Given the description of an element on the screen output the (x, y) to click on. 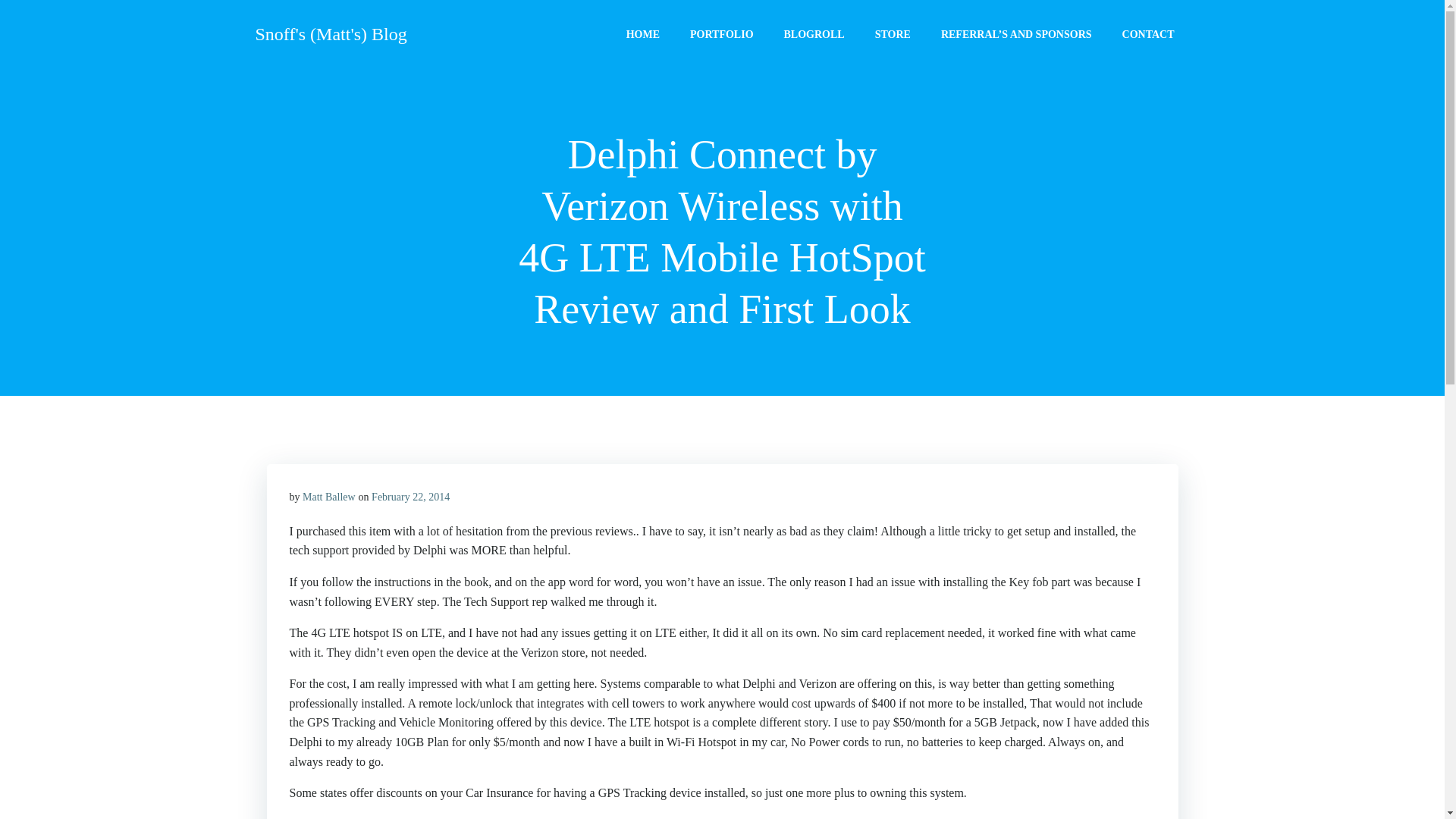
PORTFOLIO (722, 33)
STORE (893, 33)
HOME (642, 33)
BLOGROLL (814, 33)
Matt Ballew (328, 496)
February 22, 2014 (410, 496)
CONTACT (1148, 33)
